Given the description of an element on the screen output the (x, y) to click on. 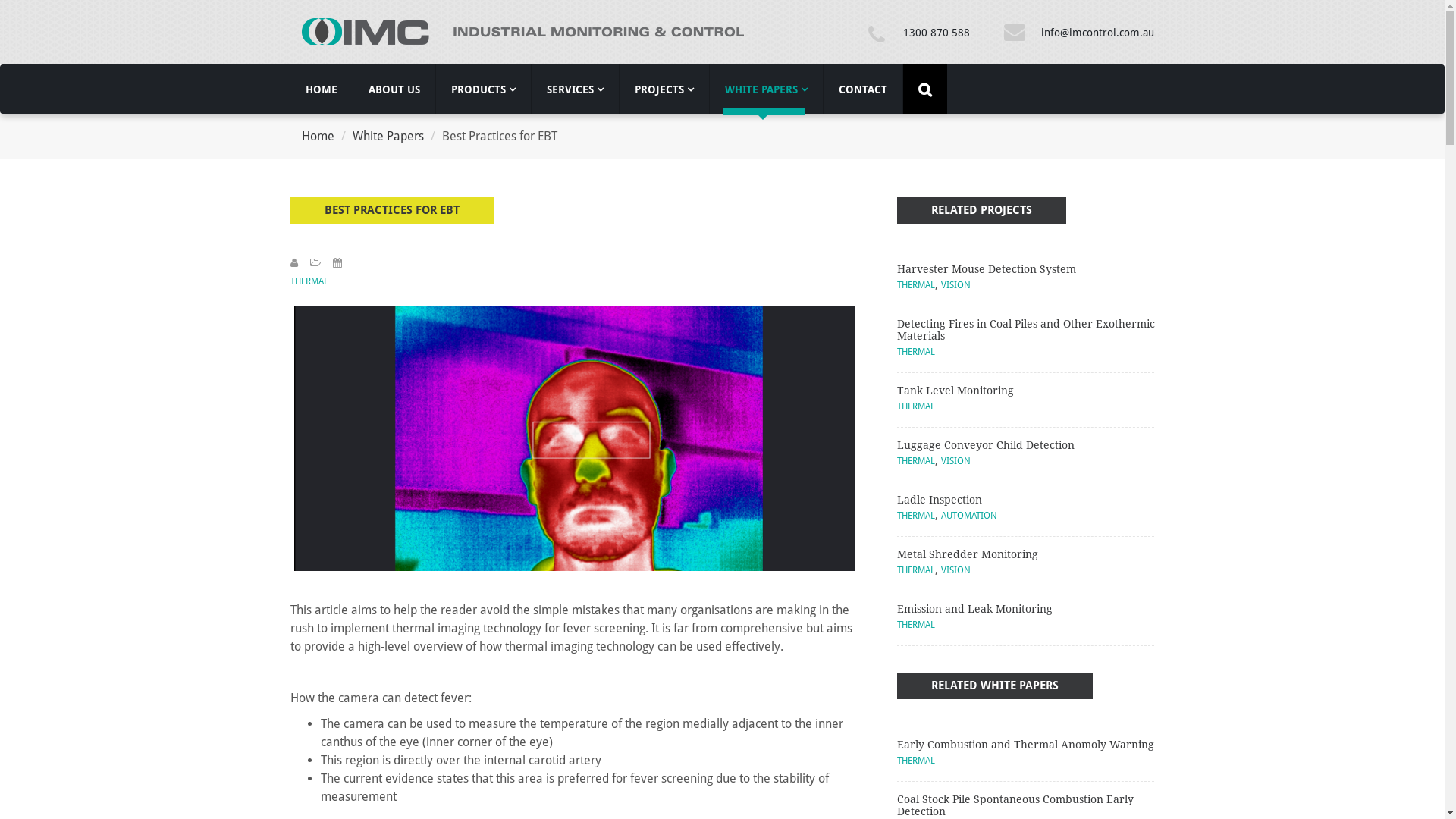
THERMAL Element type: text (915, 760)
THERMAL Element type: text (915, 406)
White Papers Element type: text (387, 135)
SERVICES Element type: text (574, 88)
THERMAL Element type: text (915, 515)
WHITE PAPERS Element type: text (765, 88)
VISION Element type: text (954, 460)
Harvester Mouse Detection System Element type: text (985, 269)
Home Element type: text (317, 135)
Emission and Leak Monitoring Element type: text (973, 608)
Tank Level Monitoring Element type: text (954, 390)
THERMAL Element type: text (915, 624)
ABOUT US Element type: text (394, 88)
Early Combustion and Thermal Anomoly Warning Element type: text (1024, 744)
Metal Shredder Monitoring Element type: text (966, 554)
VISION Element type: text (954, 284)
CONTACT Element type: text (862, 88)
AUTOMATION Element type: text (968, 515)
info@imcontrol.com.au Element type: text (1097, 31)
Ladle Inspection Element type: text (938, 499)
Detecting Fires in Coal Piles and Other Exothermic Materials Element type: text (1025, 329)
THERMAL Element type: text (915, 284)
Luggage Conveyor Child Detection Element type: text (984, 445)
THERMAL Element type: text (915, 460)
1300 870 588 Element type: text (936, 31)
PRODUCTS Element type: text (482, 88)
VISION Element type: text (954, 569)
PROJECTS Element type: text (663, 88)
THERMAL Element type: text (915, 569)
THERMAL Element type: text (915, 351)
THERMAL Element type: text (308, 281)
HOME Element type: text (320, 88)
Coal Stock Pile Spontaneous Combustion Early Detection Element type: text (1014, 805)
